Given the description of an element on the screen output the (x, y) to click on. 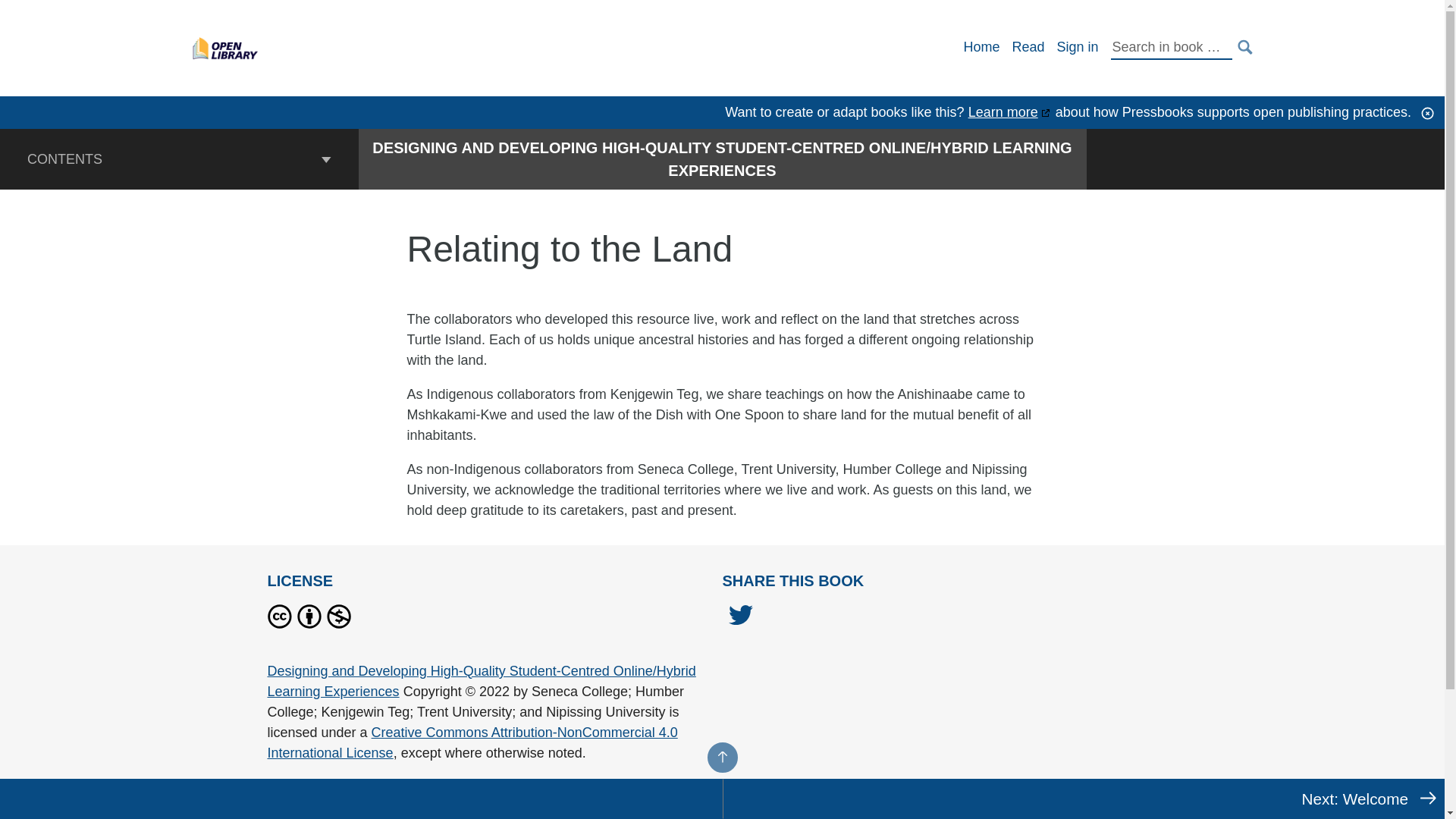
Sign in (1077, 46)
Learn more (1009, 111)
Share on Twitter (740, 616)
CONTENTS (178, 158)
Share on Twitter (740, 618)
BACK TO TOP (721, 757)
Read (1027, 46)
Home (980, 46)
